Given the description of an element on the screen output the (x, y) to click on. 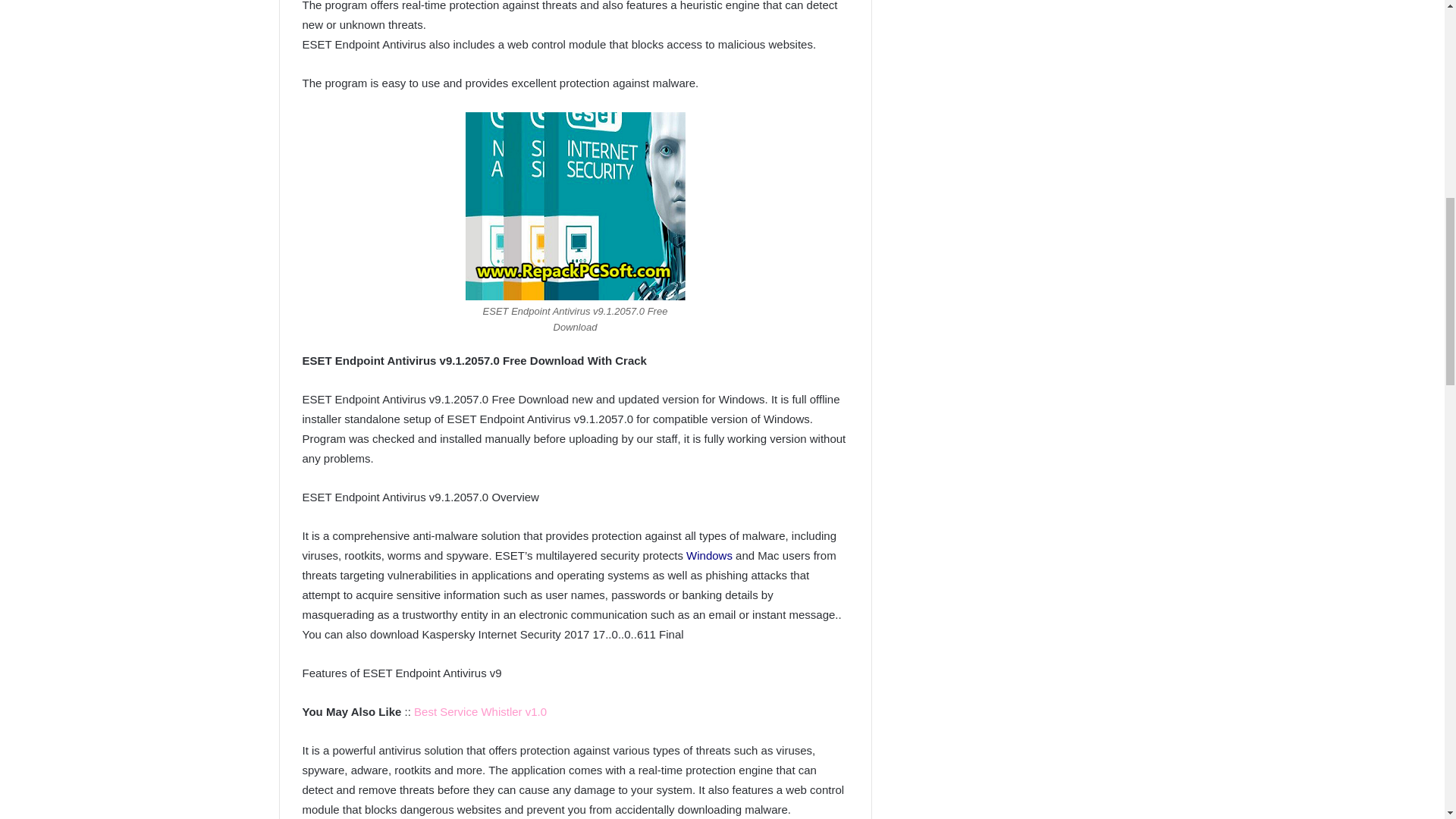
ESET Endpoint Antivirus v9.1.2057.0 Free Download (575, 206)
Windows (708, 554)
Best Service Whistler v1.0 (480, 711)
